Given the description of an element on the screen output the (x, y) to click on. 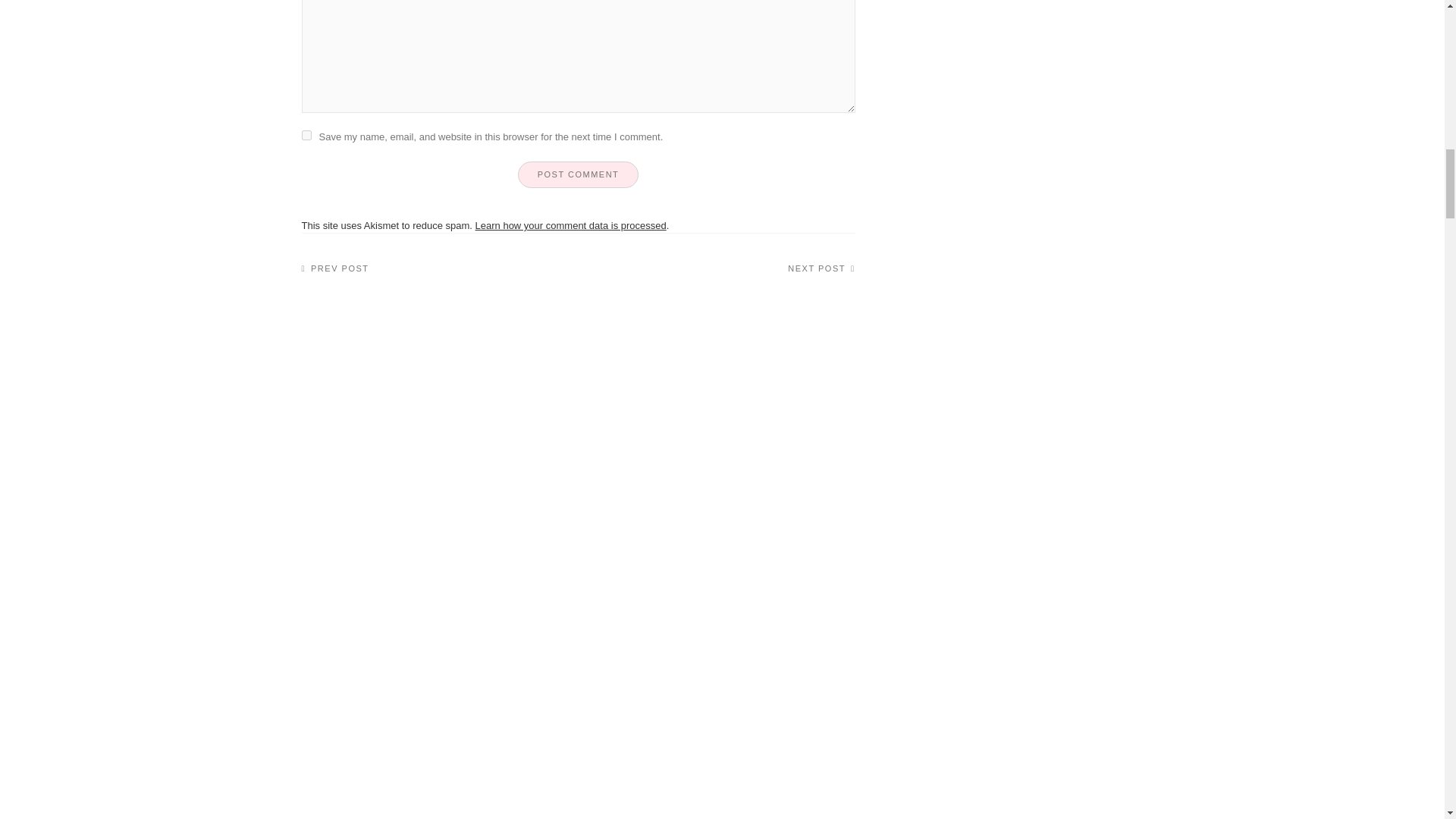
yes (306, 135)
Post Comment (578, 174)
